Given the description of an element on the screen output the (x, y) to click on. 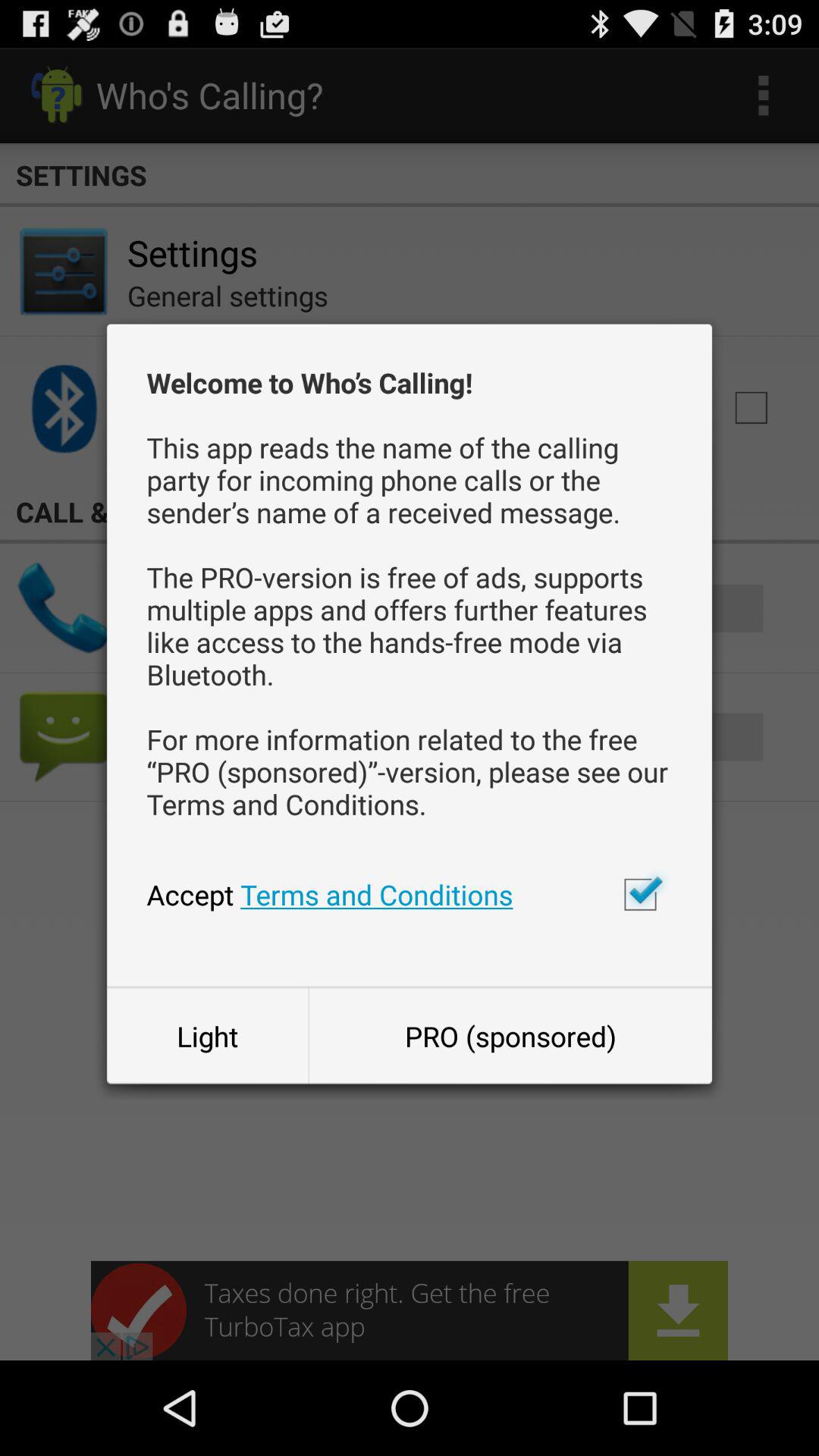
accept agreement (640, 894)
